Given the description of an element on the screen output the (x, y) to click on. 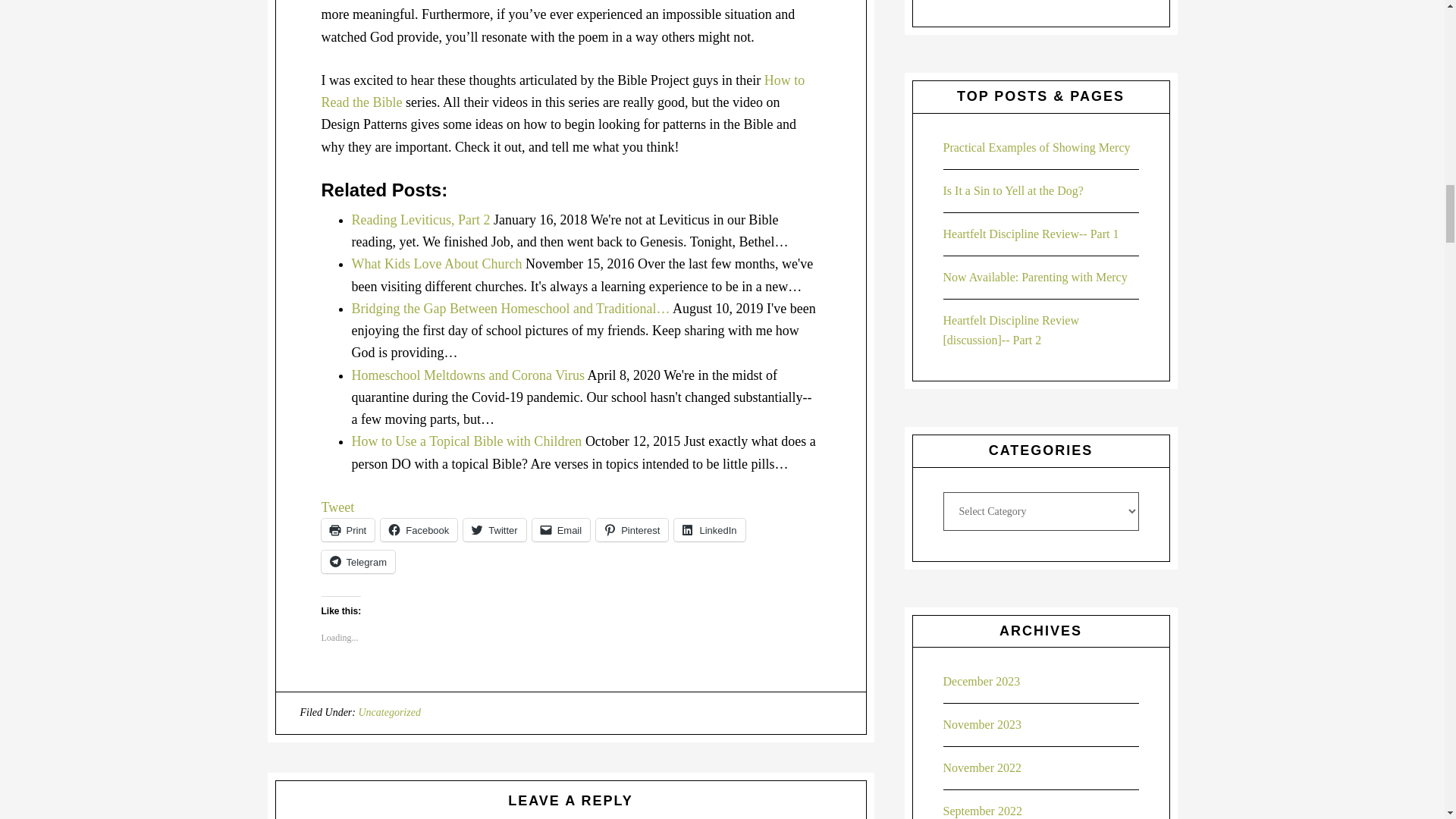
Telegram (357, 561)
LinkedIn (709, 529)
What Kids Love About Church (437, 263)
Tweet (338, 507)
Pinterest (631, 529)
Email (561, 529)
Uncategorized (389, 712)
Click to share on LinkedIn (709, 529)
Click to print (348, 529)
Facebook (418, 529)
Homeschool Meltdowns and Corona Virus (468, 375)
Click to share on Telegram (357, 561)
Click to share on Twitter (494, 529)
How to Use a Topical Bible with Children (467, 441)
Click to share on Pinterest (631, 529)
